Given the description of an element on the screen output the (x, y) to click on. 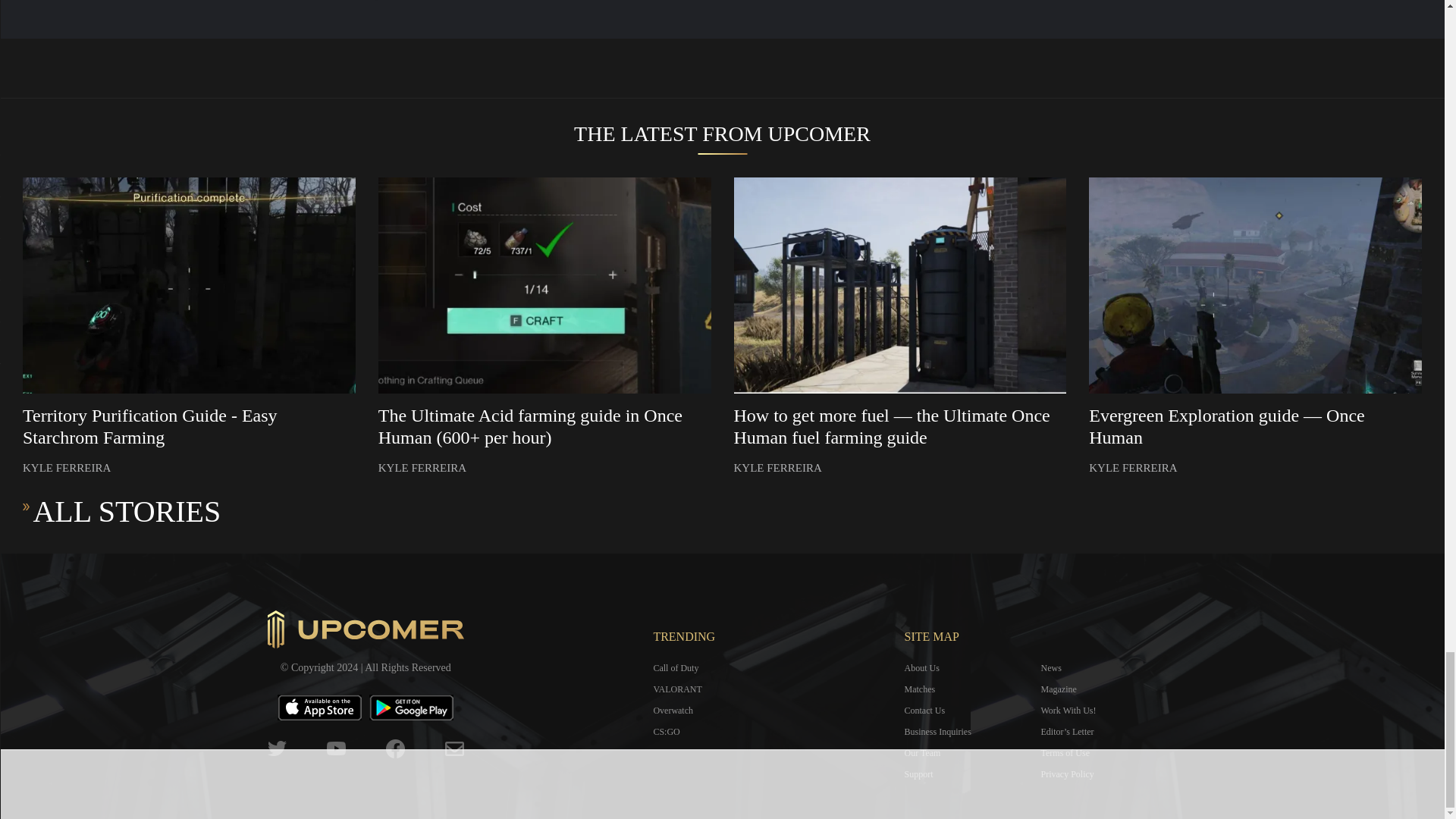
Upcomer Logo (365, 629)
